Given the description of an element on the screen output the (x, y) to click on. 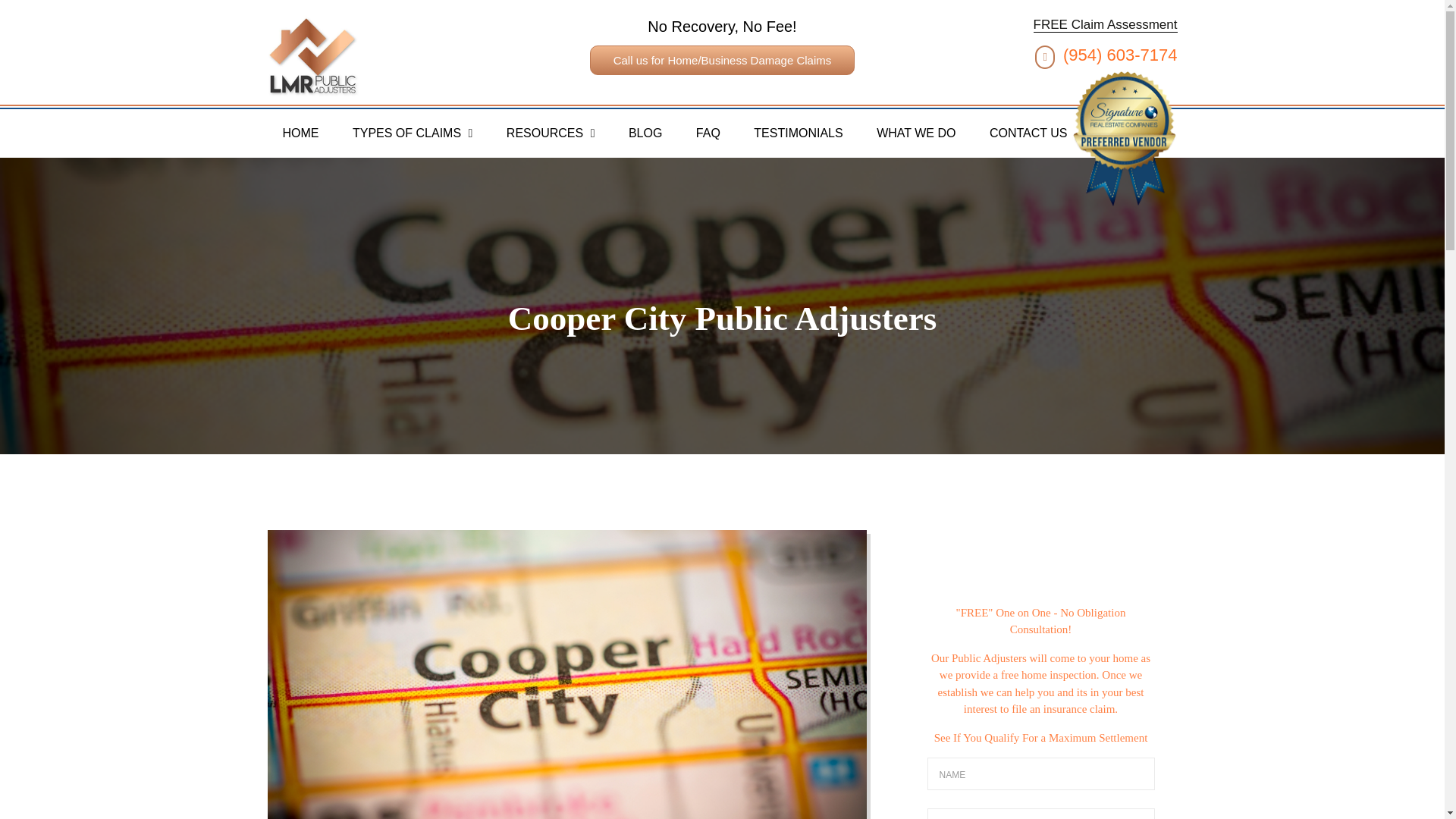
TYPES OF CLAIMS (412, 133)
RESOURCES (551, 133)
HOME (299, 133)
